Given the description of an element on the screen output the (x, y) to click on. 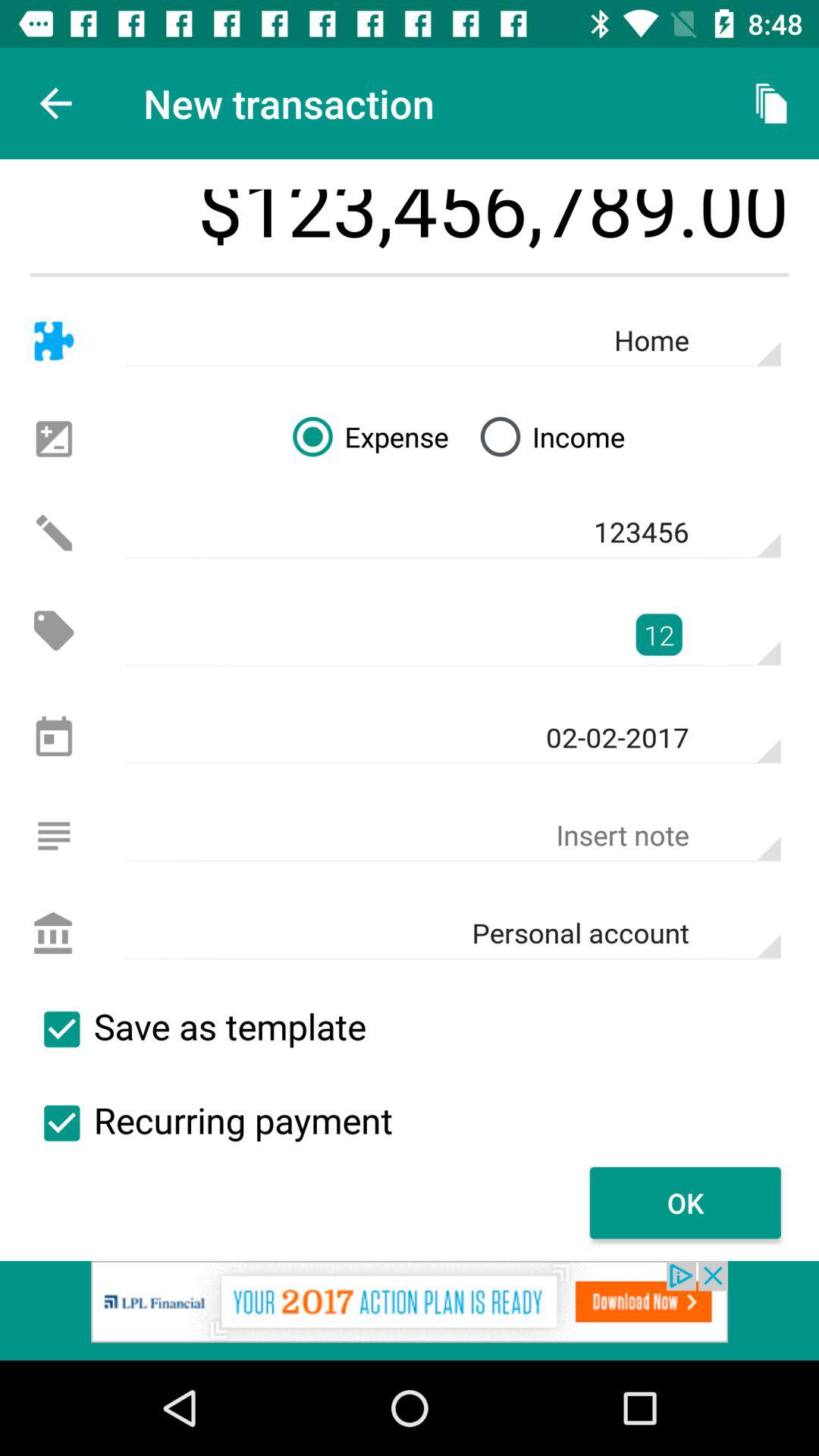
open list category (53, 835)
